Given the description of an element on the screen output the (x, y) to click on. 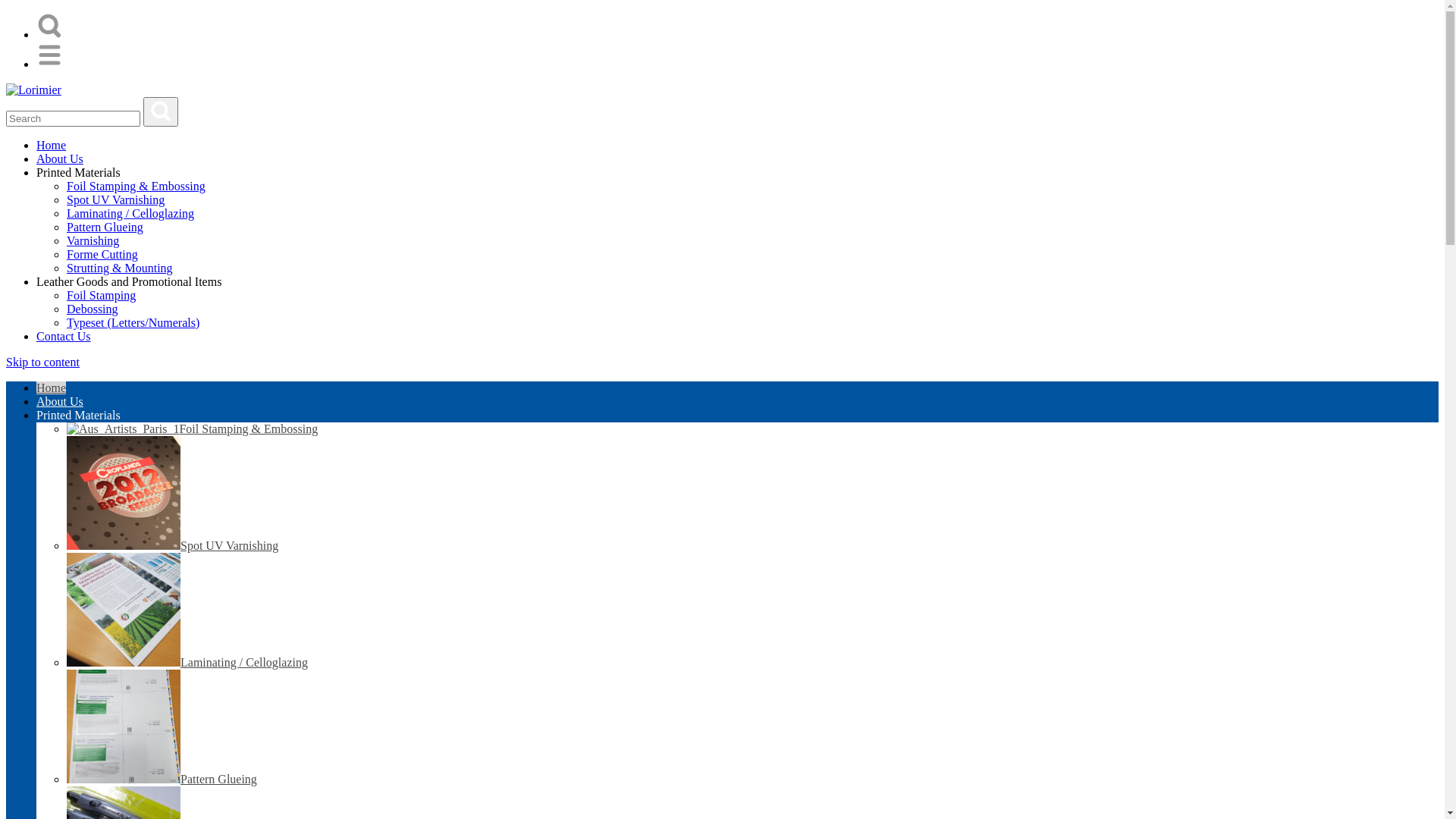
Varnishing Element type: text (92, 240)
Printed Materials Element type: text (78, 172)
Strutting & Mounting Element type: text (119, 267)
Home Element type: text (50, 144)
Forme Cutting Element type: text (102, 253)
About Us Element type: text (59, 158)
Laminating / Celloglazing Element type: text (130, 213)
Debossing Element type: text (92, 308)
About Us Element type: text (59, 401)
Printed Materials Element type: text (78, 414)
Typeset (Letters/Numerals) Element type: text (132, 322)
Skip to content Element type: text (42, 361)
Laminating / Celloglazing Element type: text (186, 661)
Foil Stamping Element type: text (100, 294)
Spot UV Varnishing Element type: text (172, 545)
Foil Stamping & Embossing Element type: text (191, 428)
Home Element type: text (50, 387)
Pattern Glueing Element type: text (104, 226)
Spot UV Varnishing Element type: text (115, 199)
Pattern Glueing Element type: text (161, 778)
Foil Stamping & Embossing Element type: text (135, 185)
Contact Us Element type: text (63, 335)
Leather Goods and Promotional Items Element type: text (128, 281)
